Given the description of an element on the screen output the (x, y) to click on. 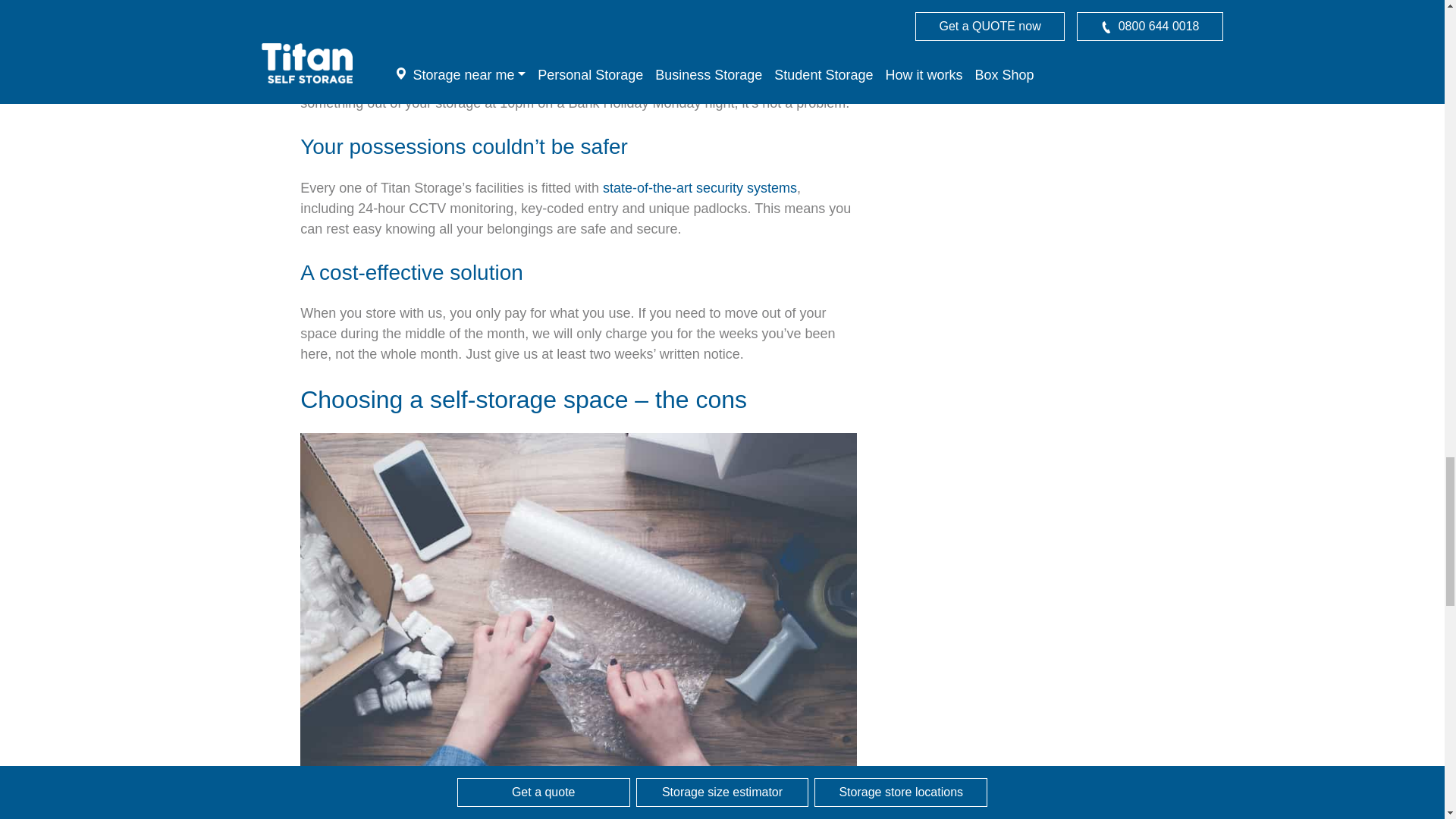
state-of-the-art security systems (699, 187)
